Given the description of an element on the screen output the (x, y) to click on. 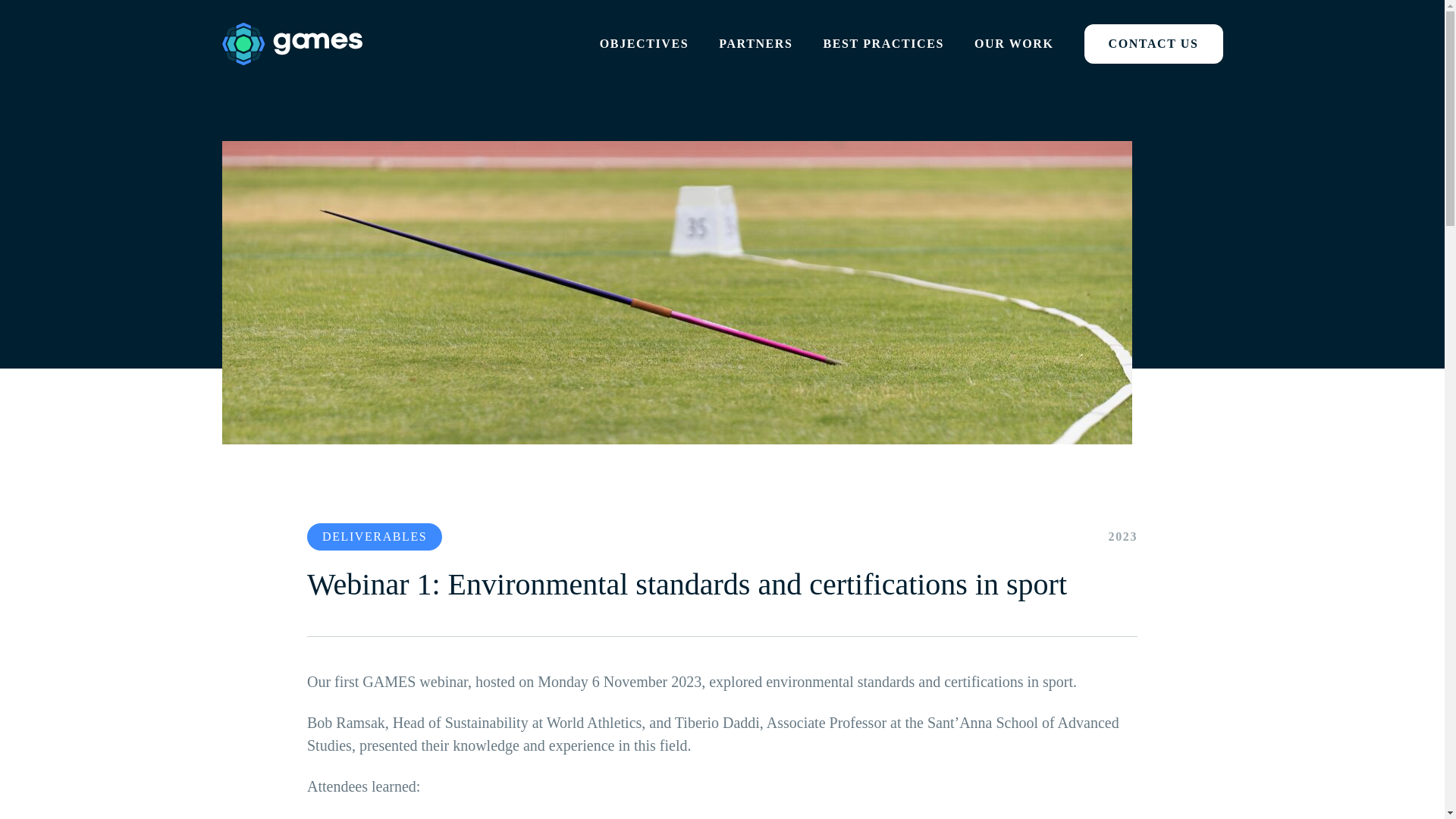
PARTNERS (755, 42)
BEST PRACTICES (884, 42)
OBJECTIVES (643, 42)
OUR WORK (1014, 42)
CONTACT US (1153, 42)
